Given the description of an element on the screen output the (x, y) to click on. 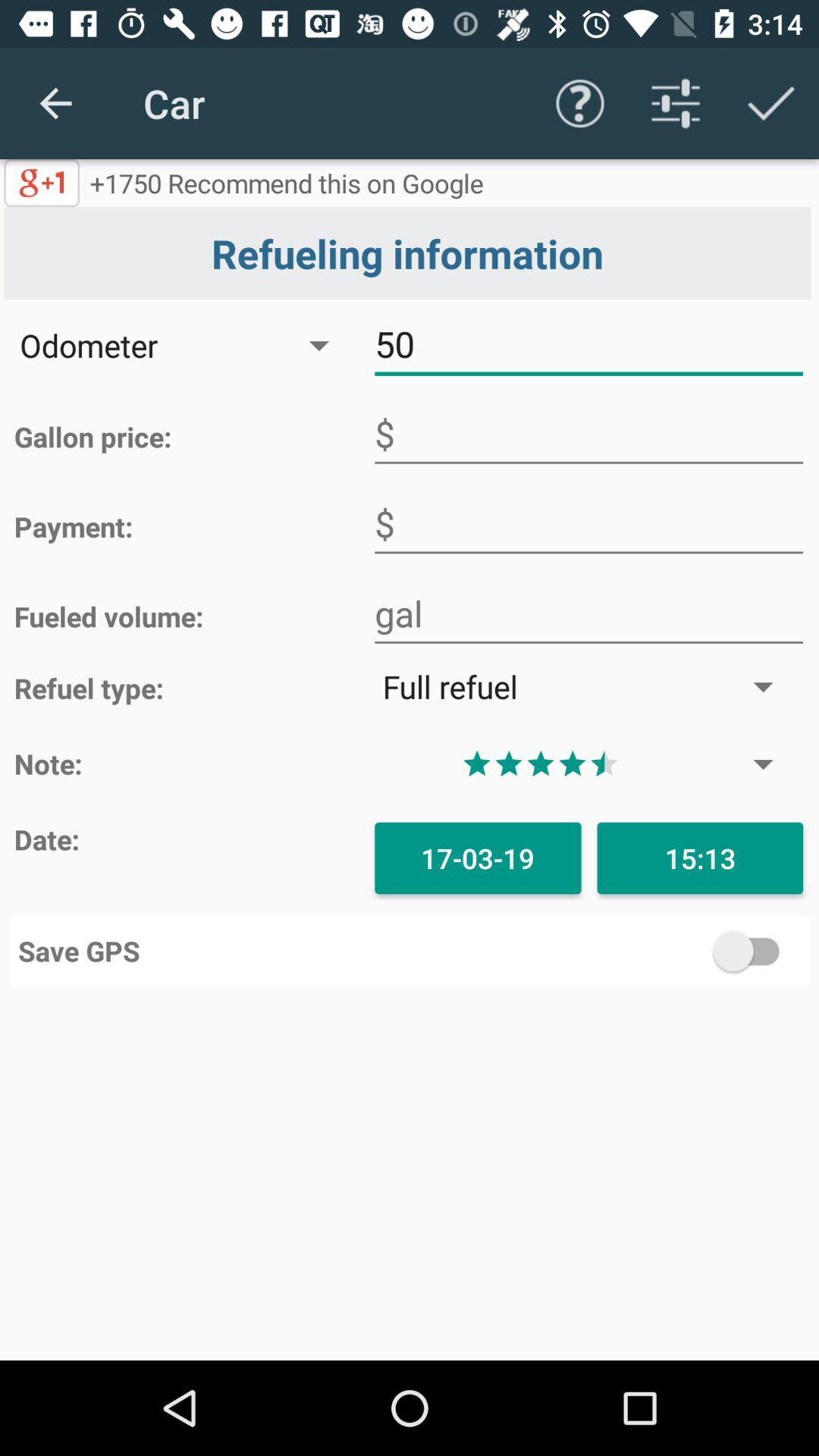
turn on option (604, 951)
